Given the description of an element on the screen output the (x, y) to click on. 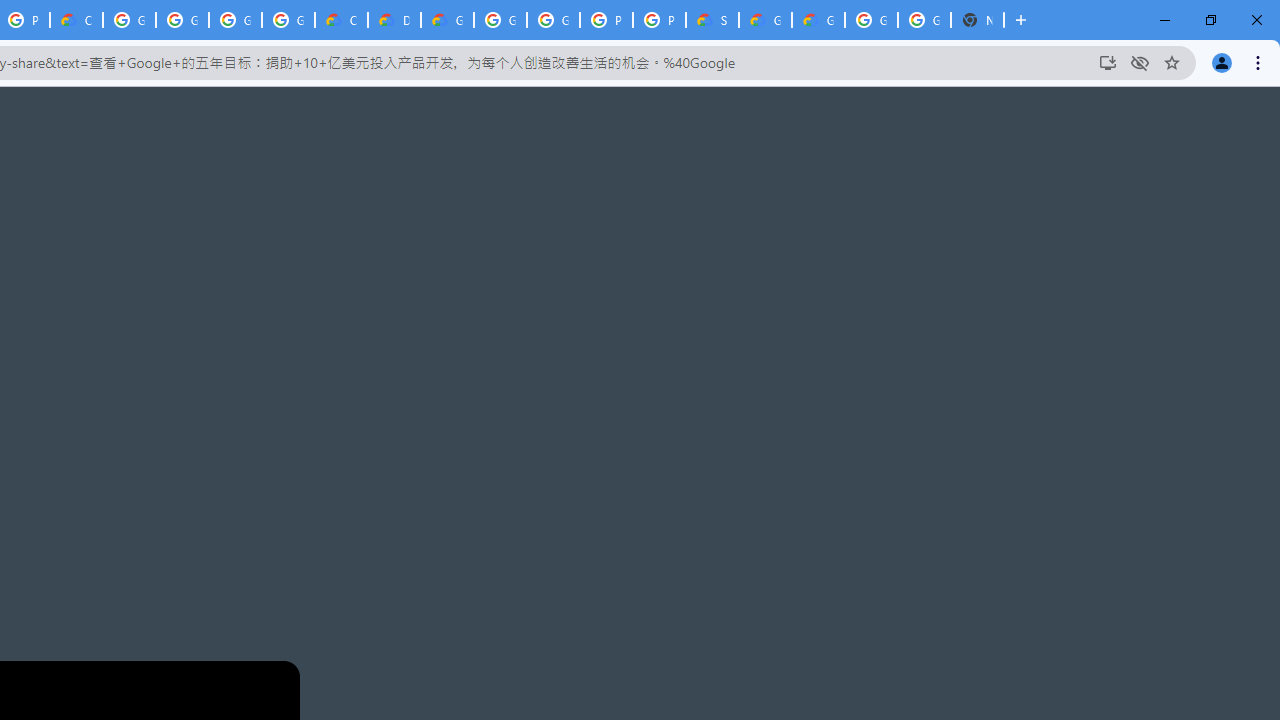
Google Workspace - Specific Terms (235, 20)
Google Cloud Platform (924, 20)
Support Hub | Google Cloud (712, 20)
Install X (1107, 62)
New Tab (977, 20)
Customer Care | Google Cloud (341, 20)
